Given the description of an element on the screen output the (x, y) to click on. 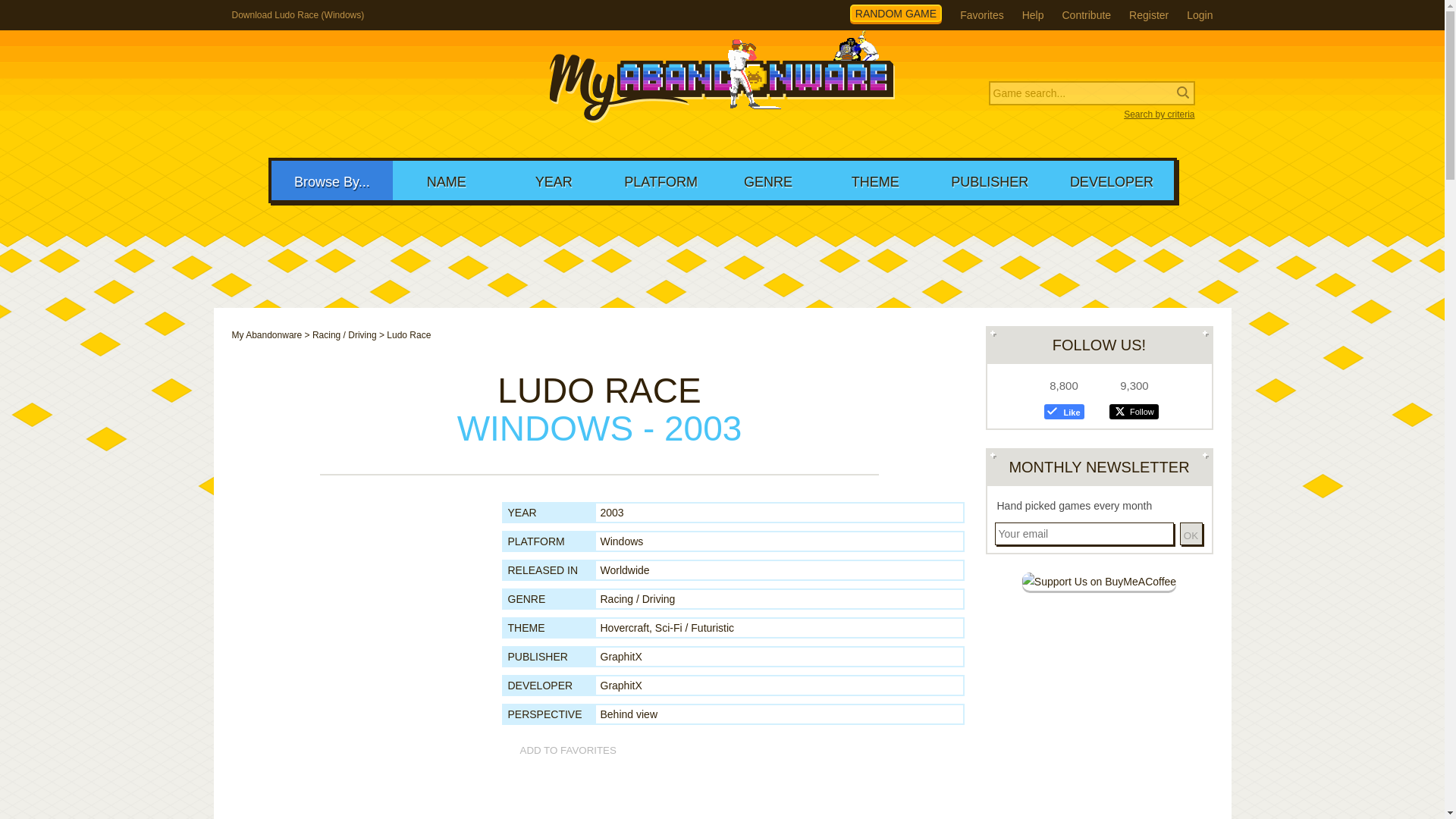
PUBLISHER (989, 179)
Add to favorites (561, 750)
NAME (446, 179)
Register (1149, 14)
GENRE (767, 179)
THEME (875, 179)
Help us by contributing (1085, 14)
Favorites (981, 14)
Login MAW (1199, 14)
Browse games of this genre (637, 598)
Browse your Favorite Games (981, 14)
Create an account (1149, 14)
GraphitX (620, 685)
PLATFORM (660, 179)
Contribute (1085, 14)
